Given the description of an element on the screen output the (x, y) to click on. 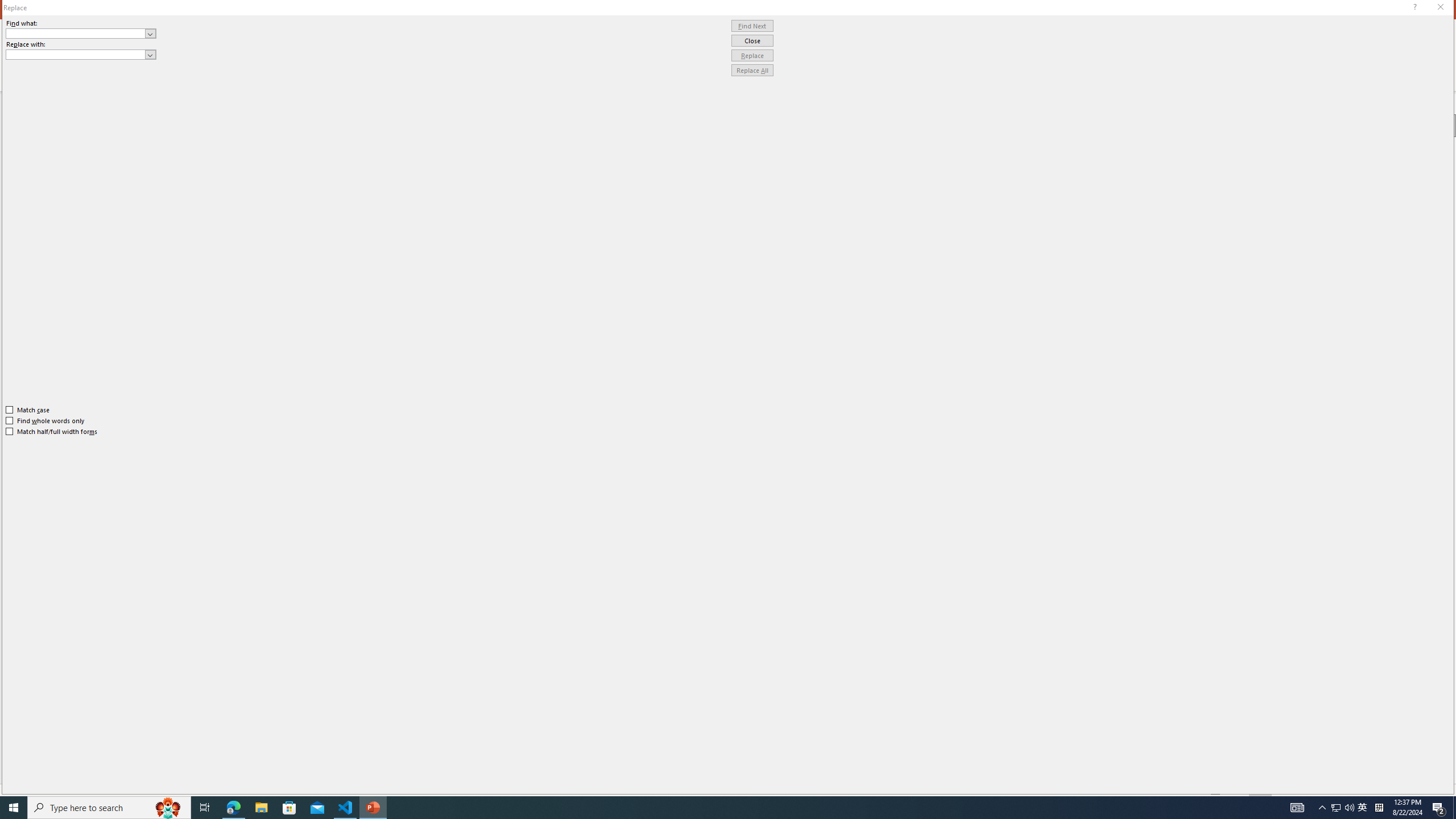
Find Next (752, 25)
